Given the description of an element on the screen output the (x, y) to click on. 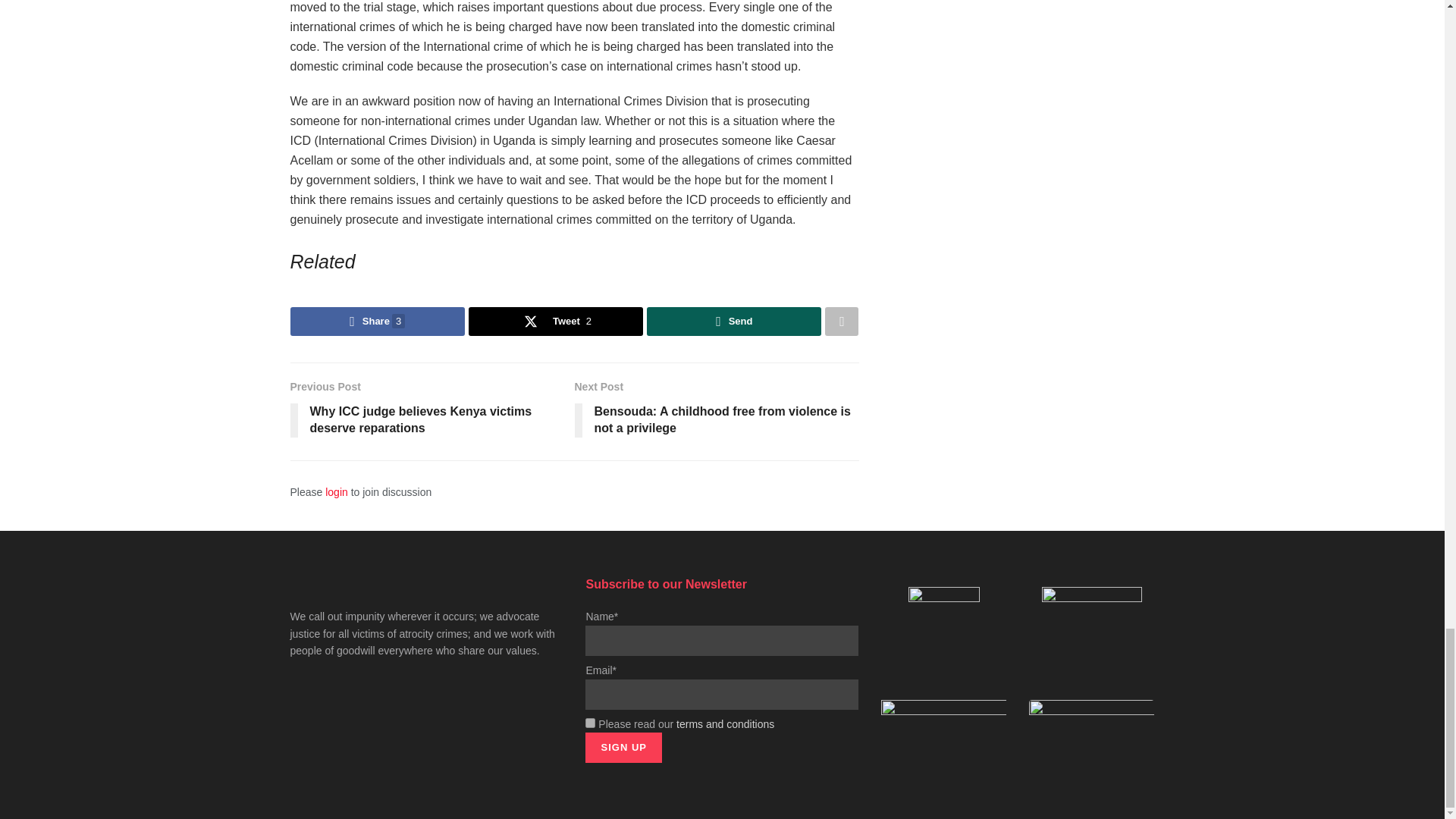
baro (1091, 727)
intahelogo150x150-1 (1091, 632)
Sign Up (623, 747)
true (590, 723)
bantabaLogo (943, 716)
